Given the description of an element on the screen output the (x, y) to click on. 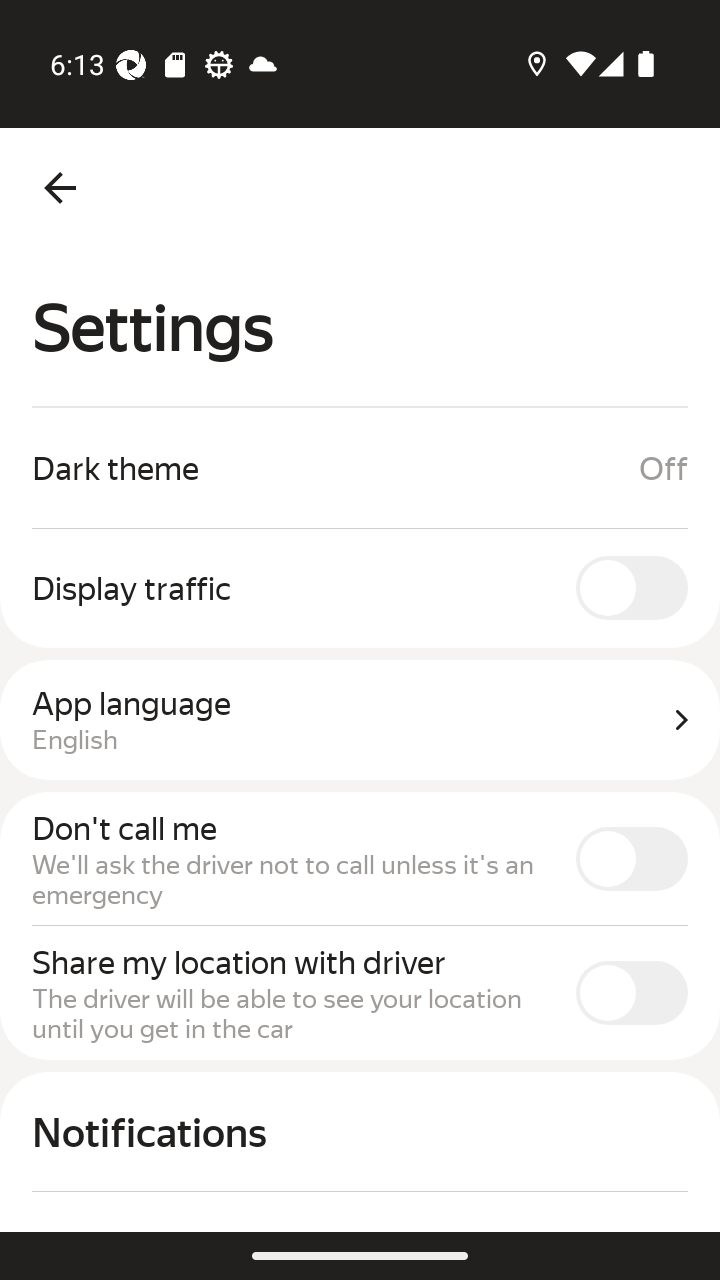
Back (60, 188)
Dark theme Dark theme Off Off (360, 467)
Display traffic (360, 587)
App language, English App language English (360, 719)
